Given the description of an element on the screen output the (x, y) to click on. 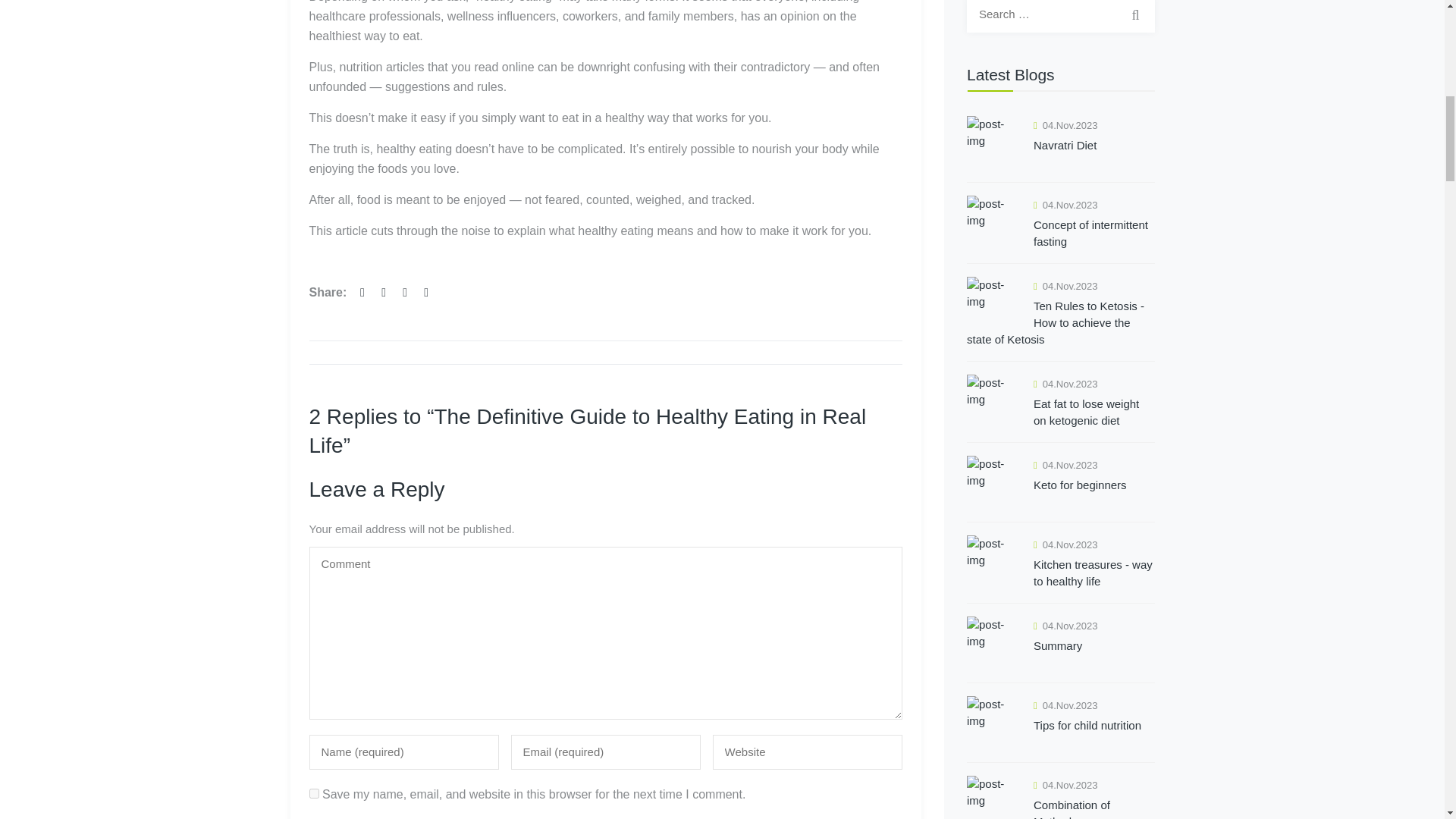
Kitchen treasures - way to healthy life (1060, 572)
yes (313, 793)
Eat fat to lose weight on ketogenic diet (1060, 412)
Summary (1060, 653)
Tips for child nutrition (1060, 733)
Navratri Diet (1060, 152)
Keto for beginners (1060, 491)
Combination of Methods (1060, 807)
Ten Rules to Ketosis - How to achieve the state of Ketosis (1060, 322)
Concept of intermittent fasting (1060, 233)
